Given the description of an element on the screen output the (x, y) to click on. 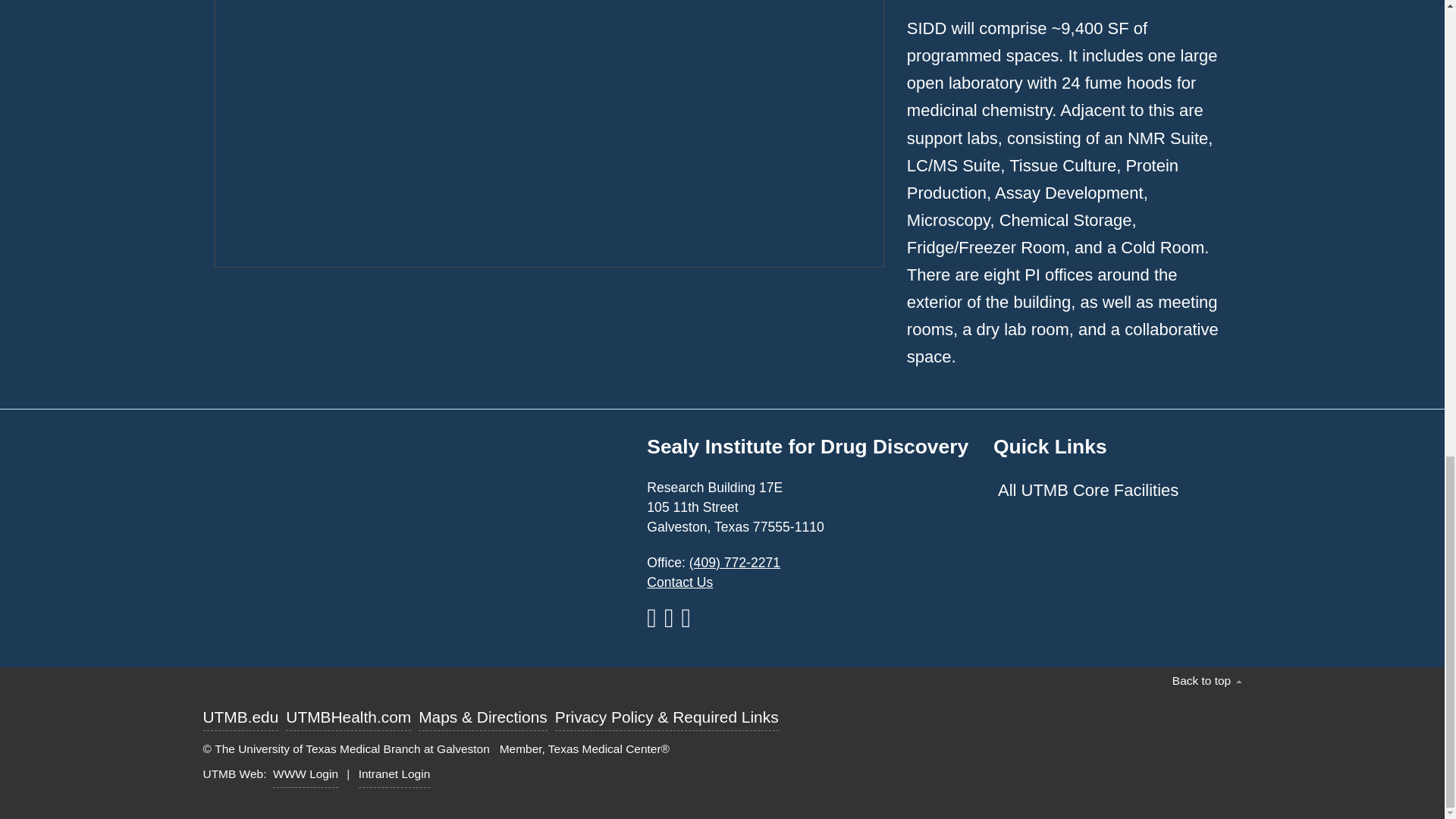
Contact Us (679, 581)
All UTMB Core Facilities (1111, 490)
UTMB Campus map (419, 538)
